Given the description of an element on the screen output the (x, y) to click on. 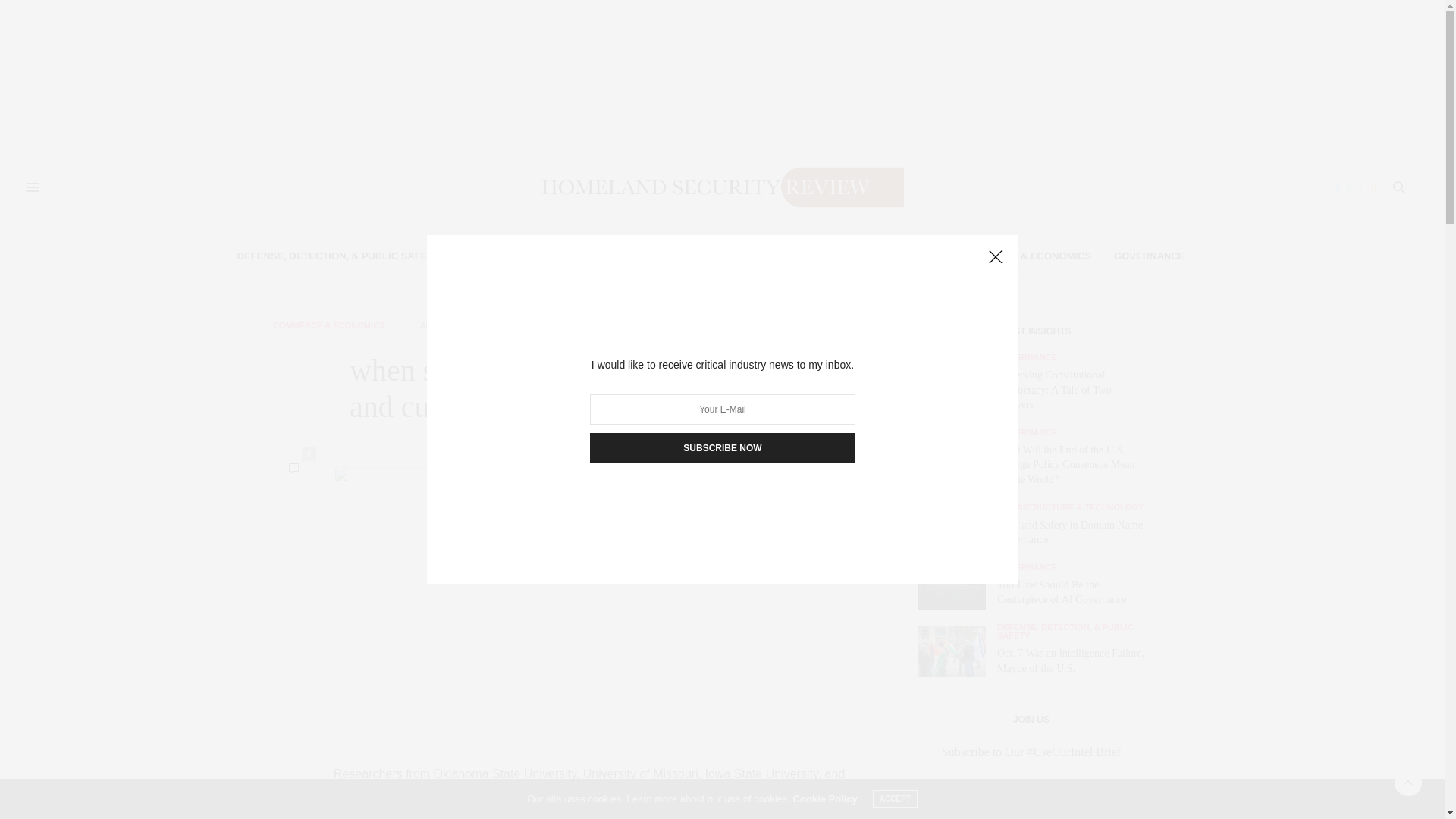
Oct. 7 Was an Intelligence Failure, Maybe of the U.S. (957, 651)
paper (556, 794)
Trust and Safety in Domain Name Governance (1069, 532)
Tort Law Should Be the Centerpiece of AI Governance (957, 586)
Preserving Constitutional Democracy: A Tale of Two Lawyers (1054, 389)
GOVERNANCE (1149, 256)
SUBSCRIBE NOW (722, 448)
Tort Law Should Be the Centerpiece of AI Governance (1061, 592)
Homeland Security Review (716, 186)
